Given the description of an element on the screen output the (x, y) to click on. 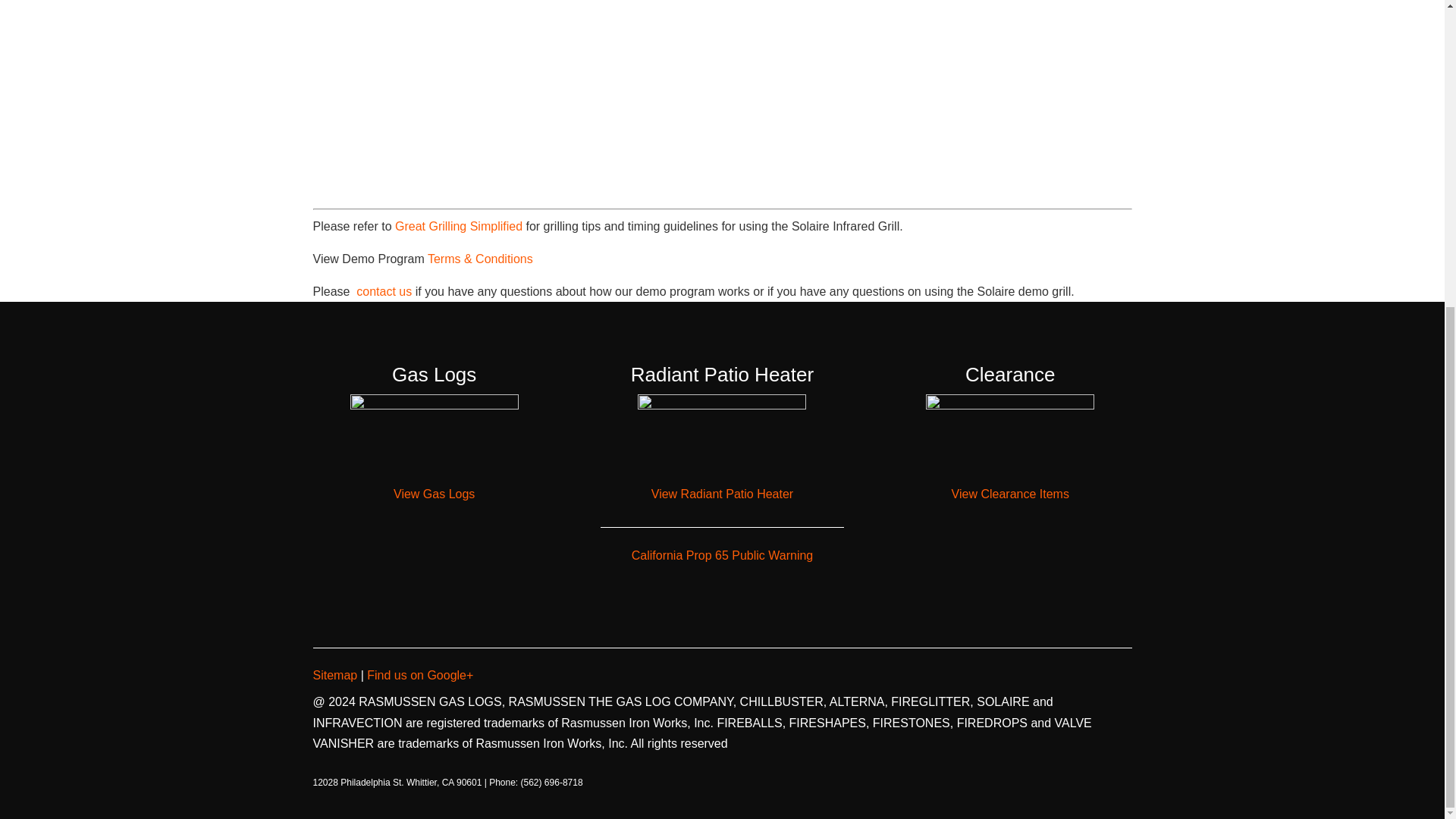
contact us (382, 291)
View Gas Logs (433, 493)
Great Grilling Simplified (459, 226)
YouTube video player (540, 91)
